Given the description of an element on the screen output the (x, y) to click on. 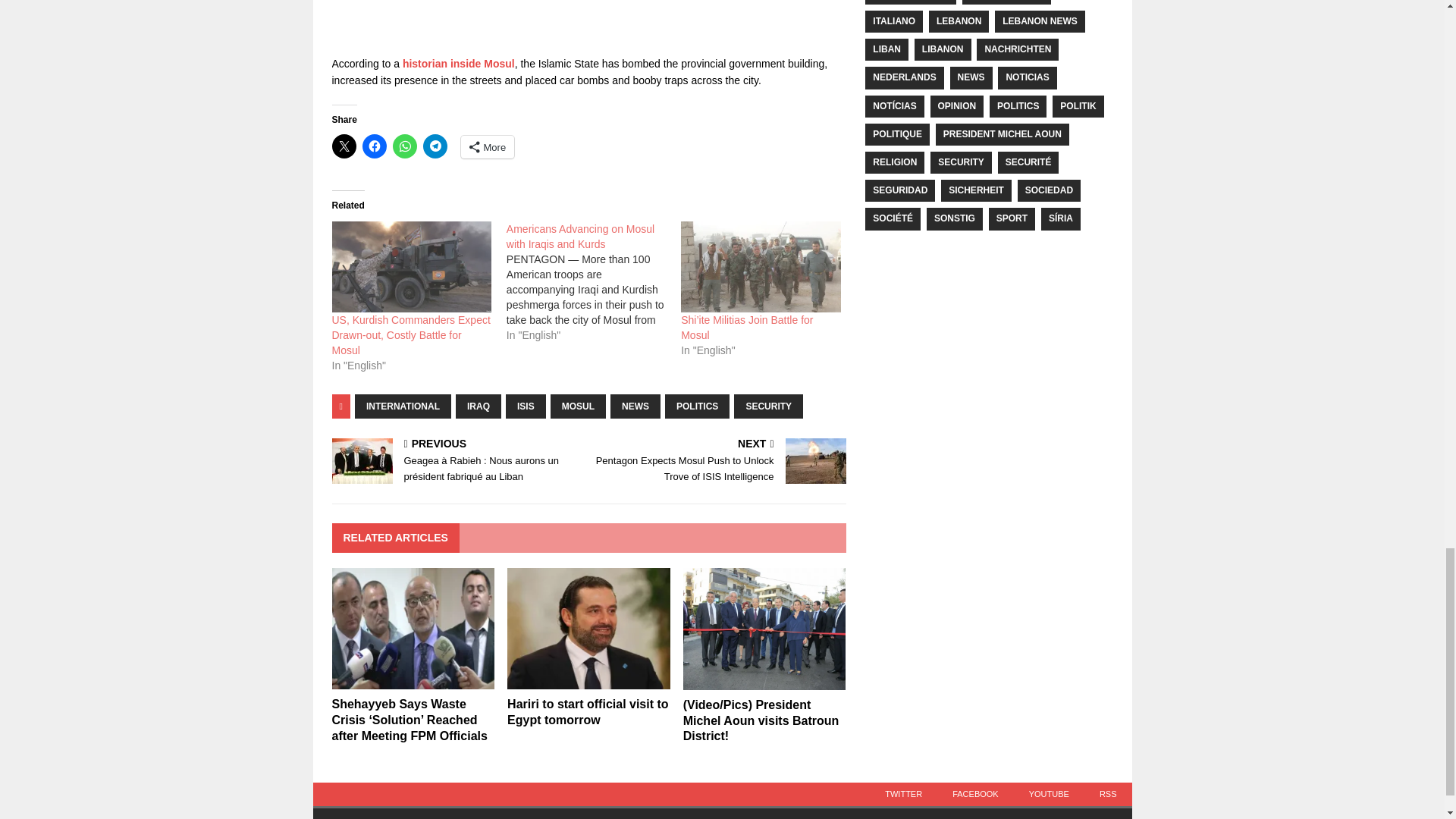
Click to share on X (343, 146)
Click to share on Facebook (374, 146)
